Given the description of an element on the screen output the (x, y) to click on. 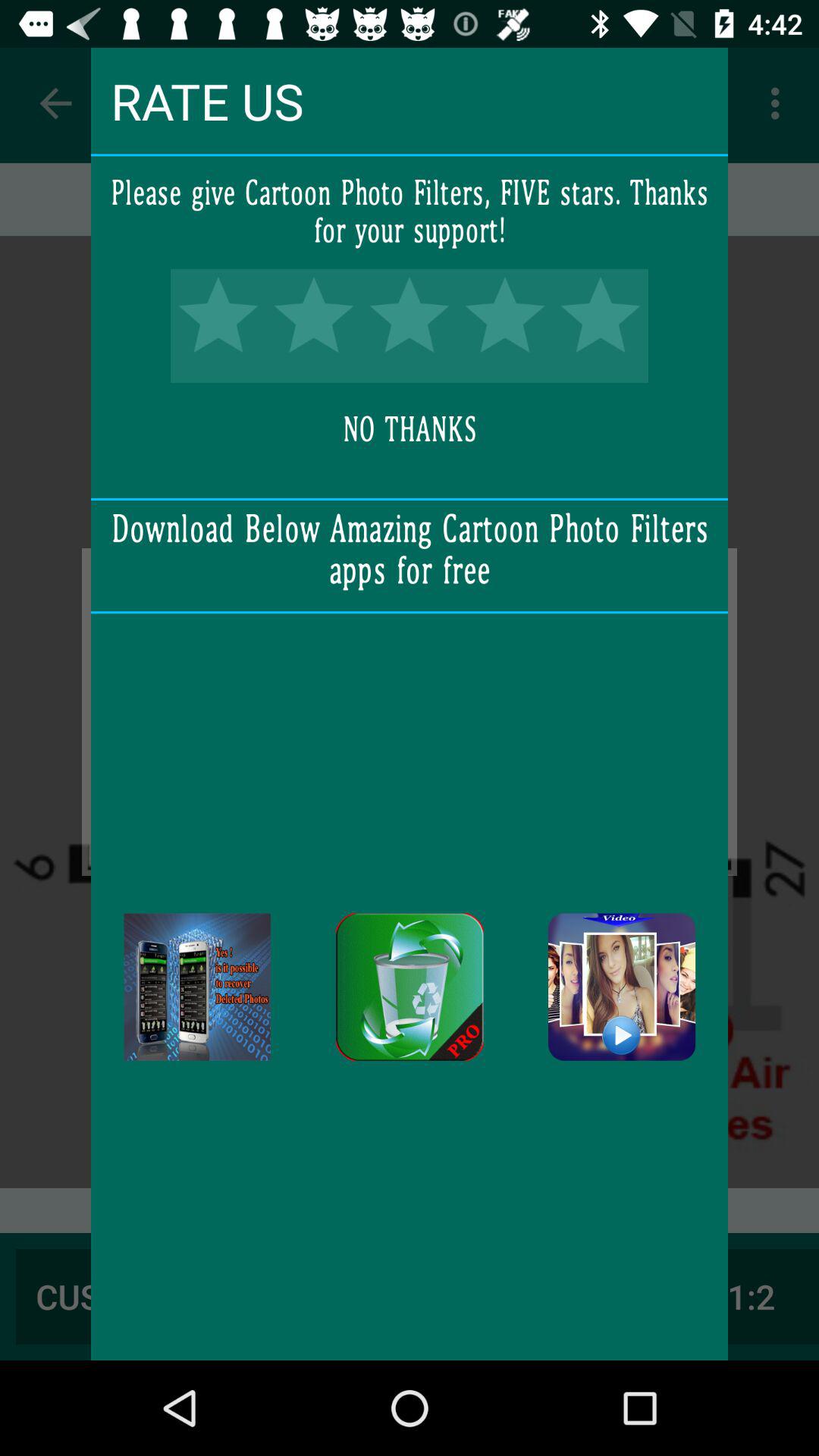
launch icon at the bottom right corner (621, 986)
